Given the description of an element on the screen output the (x, y) to click on. 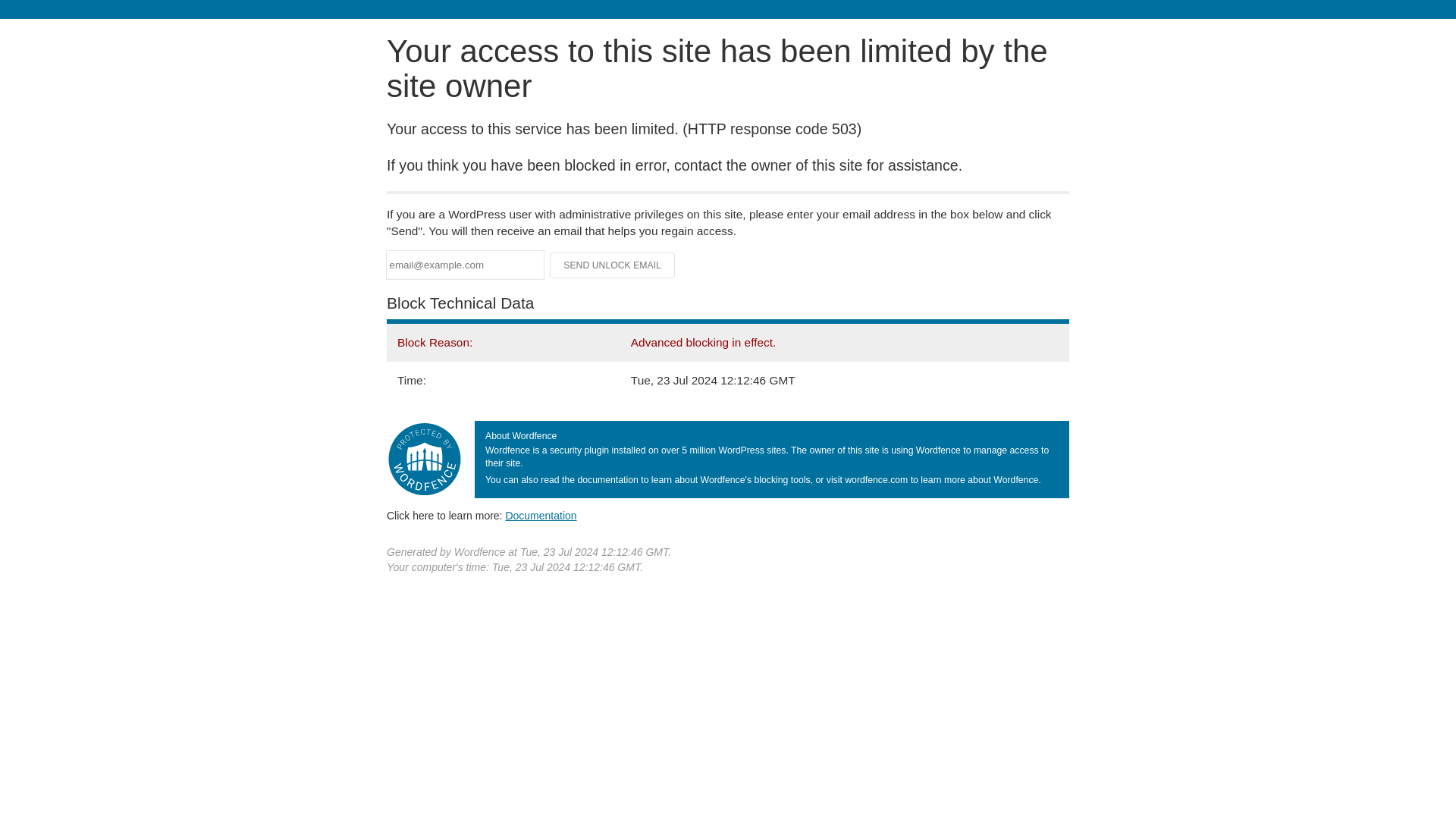
Documentation (540, 515)
Send Unlock Email (612, 265)
Send Unlock Email (612, 265)
